Given the description of an element on the screen output the (x, y) to click on. 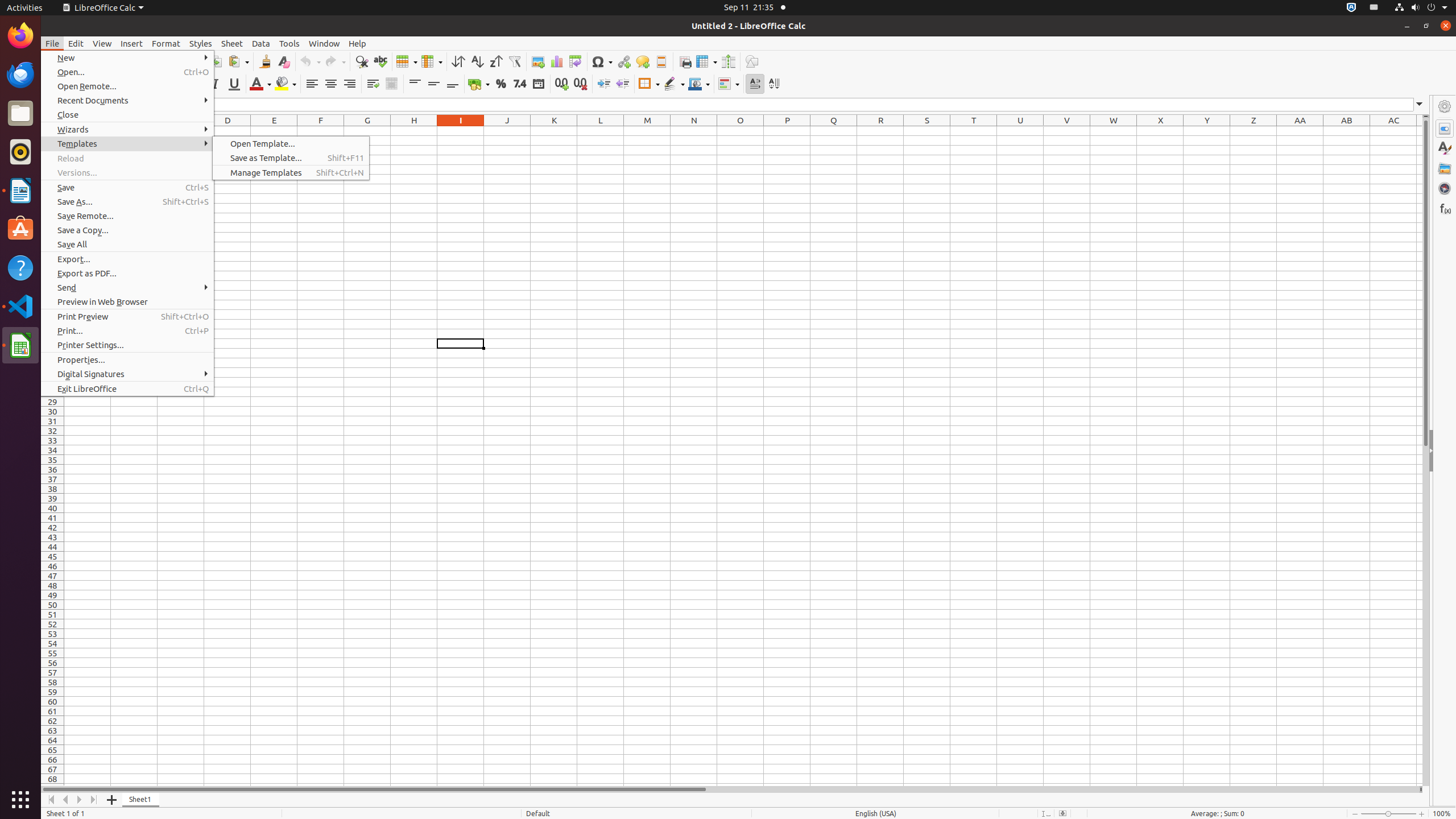
Printer Settings... Element type: menu-item (126, 344)
Tools Element type: menu (289, 43)
R1 Element type: table-cell (880, 130)
Templates Element type: menu (126, 143)
Navigator Element type: radio-button (1444, 188)
